Given the description of an element on the screen output the (x, y) to click on. 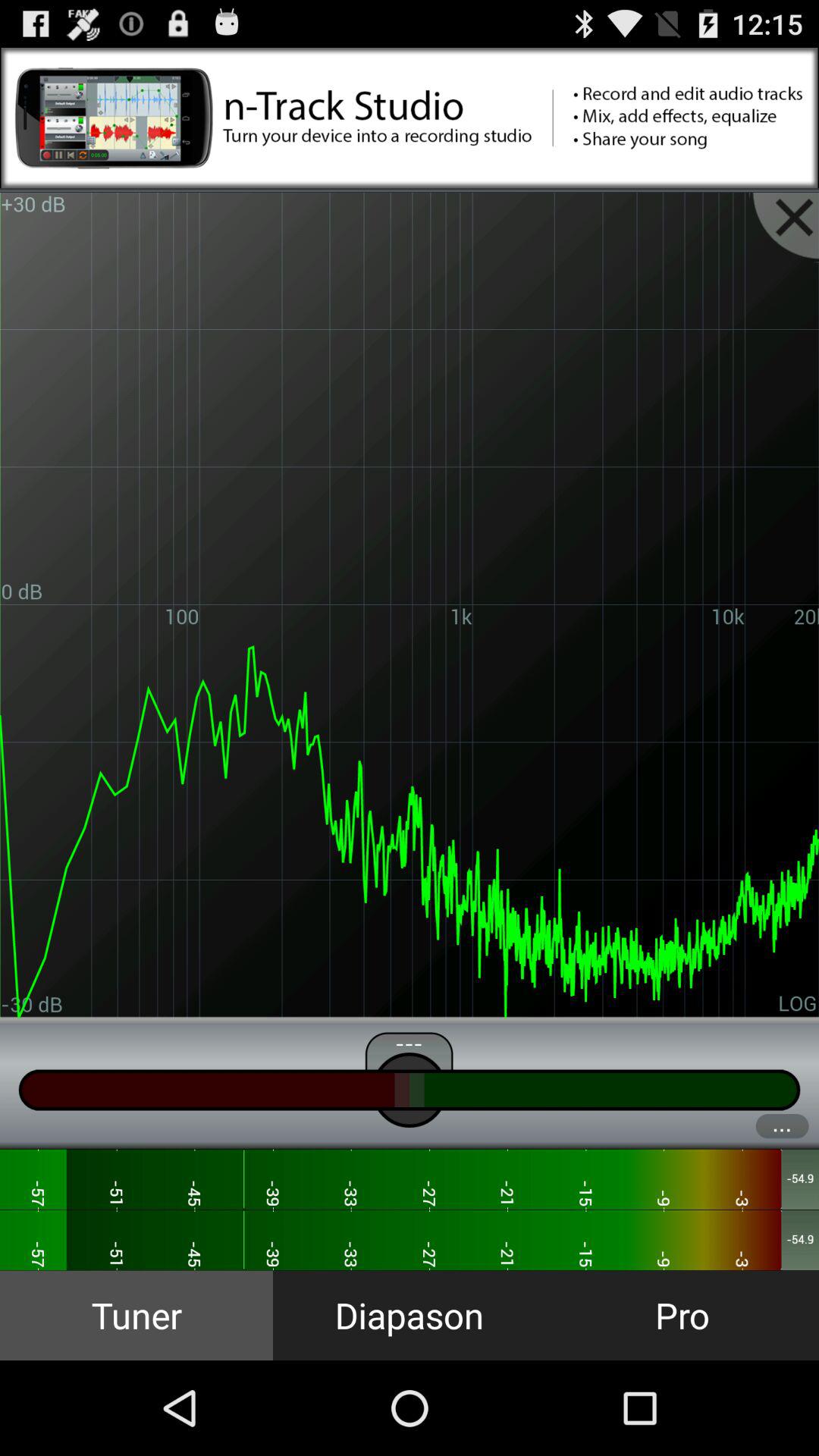
view this advertisement (409, 117)
